Given the description of an element on the screen output the (x, y) to click on. 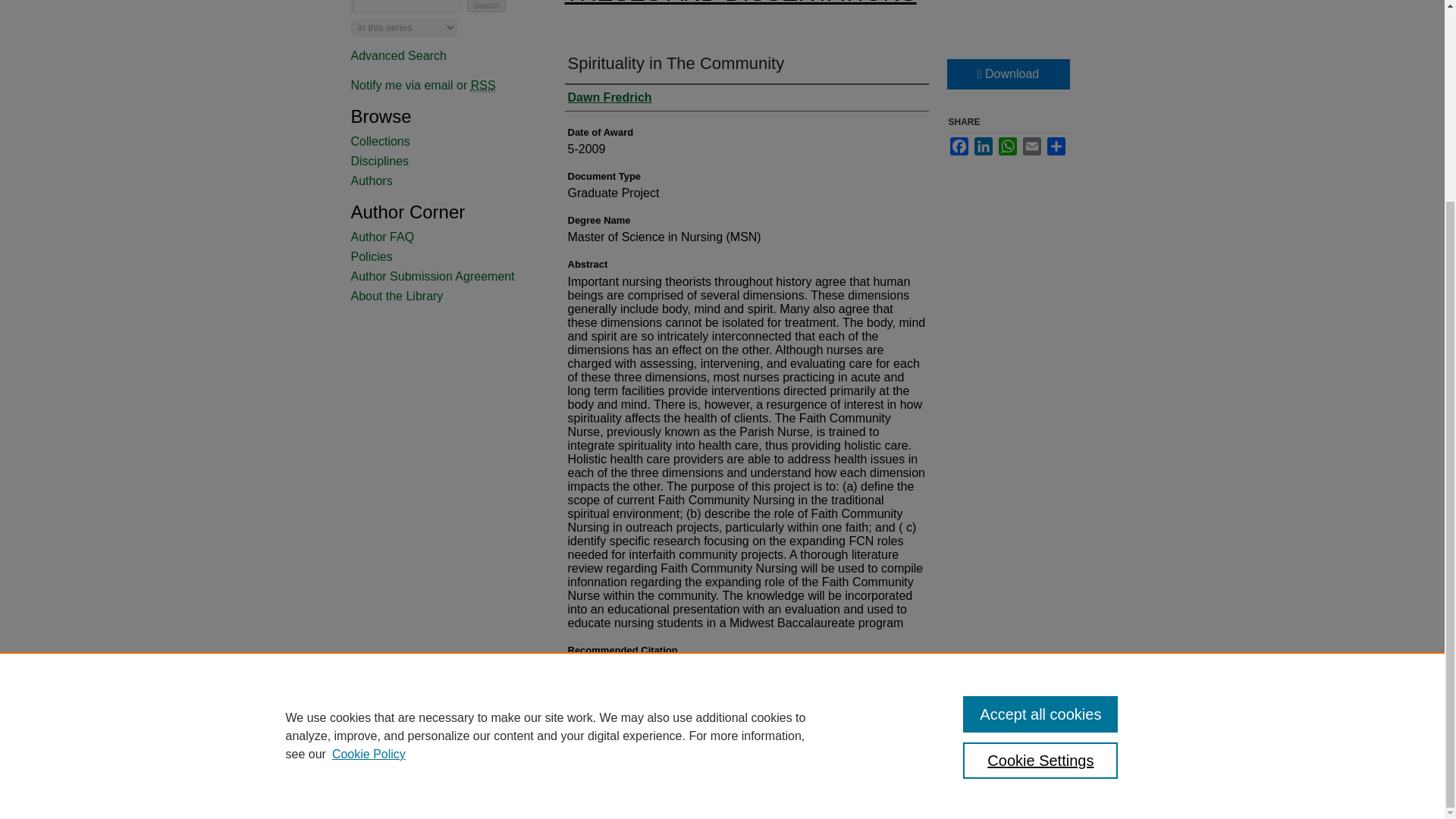
Email (1031, 146)
Disciplines (441, 161)
Browse by Disciplines (441, 161)
Email or RSS Notifications (441, 85)
Notify me via email or RSS (441, 85)
Dawn Fredrich (608, 97)
Collections (441, 141)
Browse by Collections (441, 141)
Author FAQ (441, 237)
LinkedIn (982, 146)
Author Submission Agreement (441, 276)
Download (1007, 73)
Browse by Author (441, 181)
Search (486, 6)
Really Simple Syndication (483, 85)
